Given the description of an element on the screen output the (x, y) to click on. 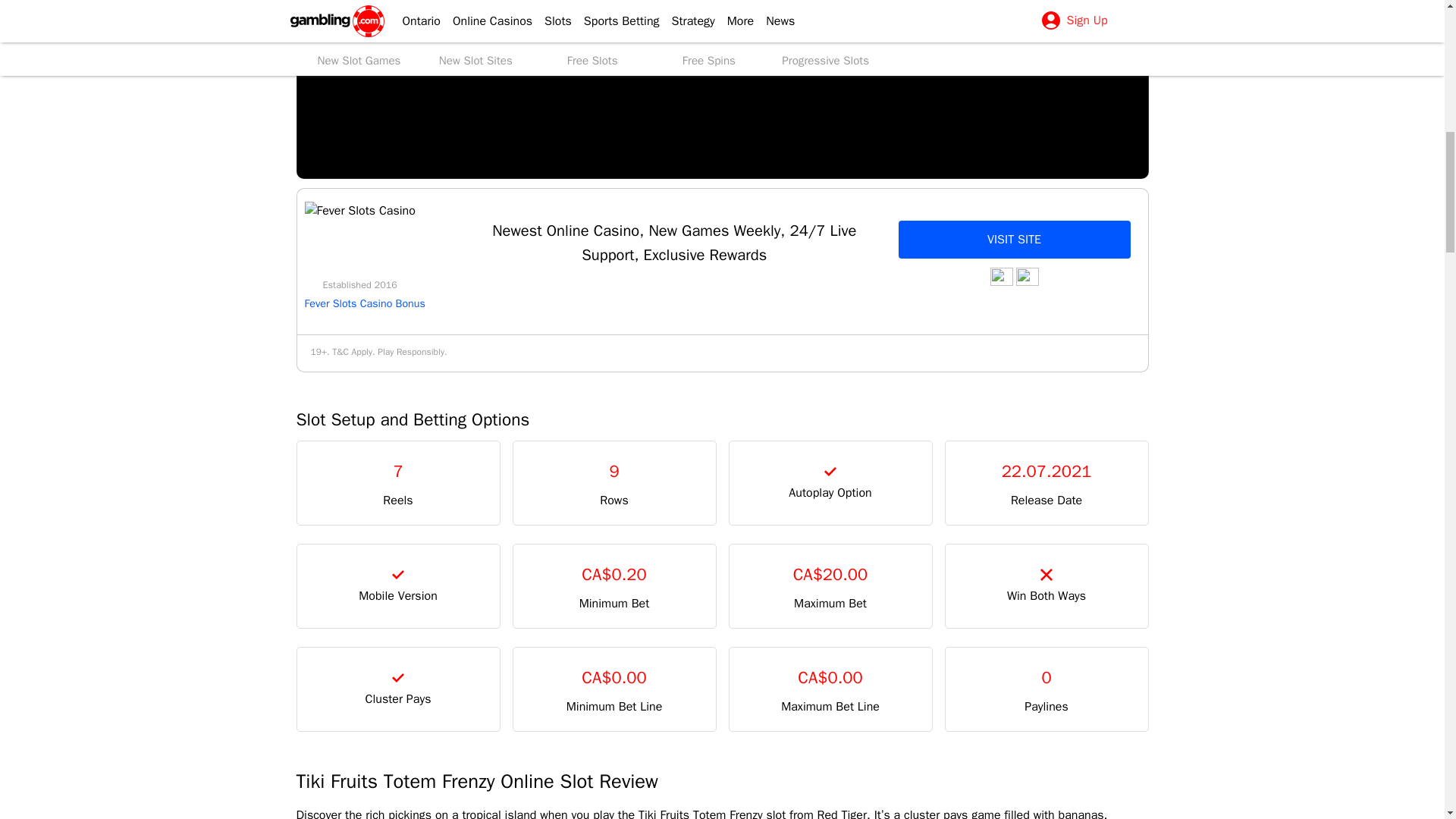
Fever Slots Casino (359, 211)
MasterCard (1001, 276)
Interac (1027, 276)
